Given the description of an element on the screen output the (x, y) to click on. 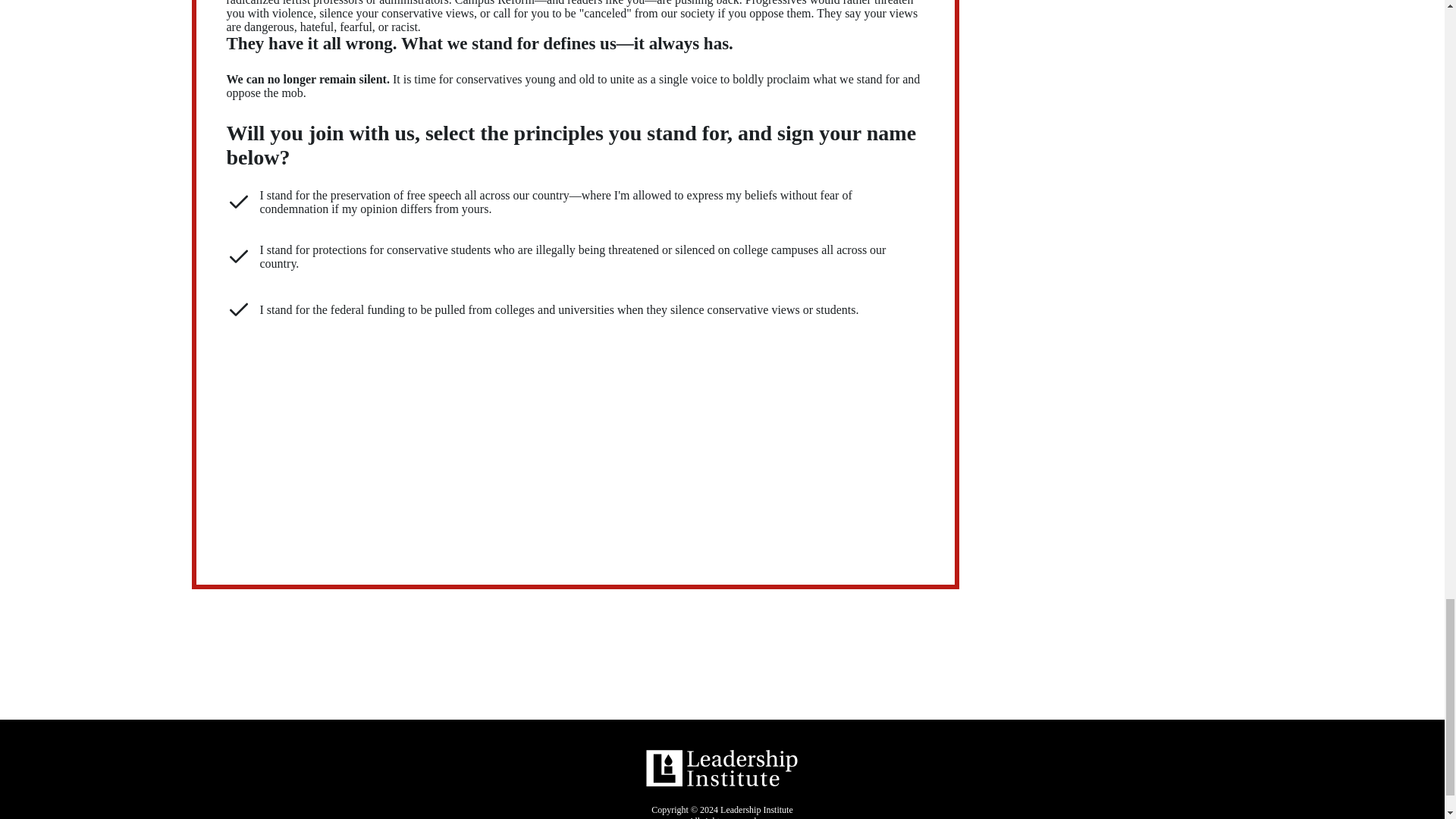
Form 0 (574, 441)
